Given the description of an element on the screen output the (x, y) to click on. 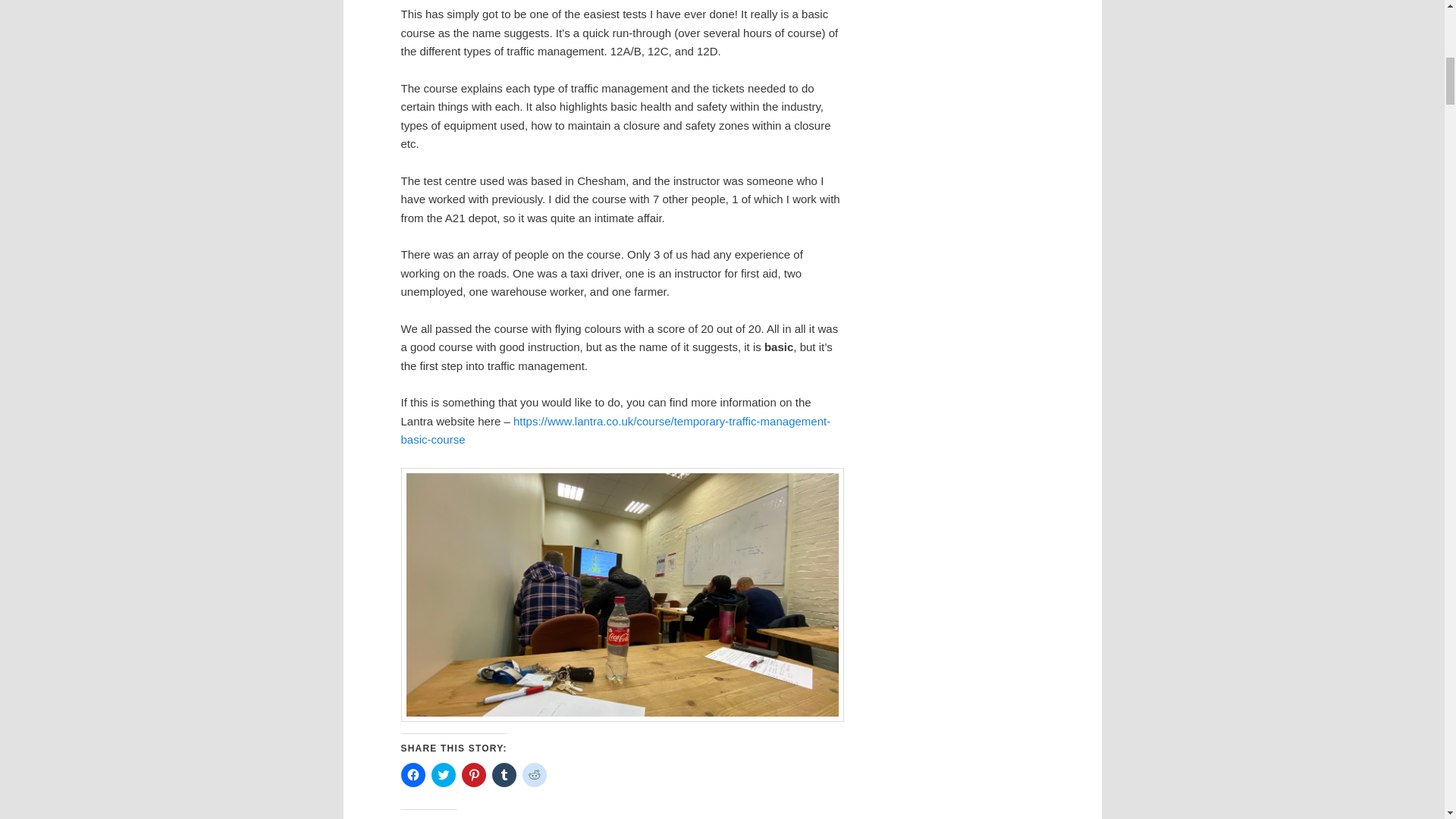
Click to share on Reddit (533, 774)
Click to share on Tumblr (503, 774)
Click to share on Twitter (442, 774)
Click to share on Facebook (412, 774)
Click to share on Pinterest (472, 774)
